Given the description of an element on the screen output the (x, y) to click on. 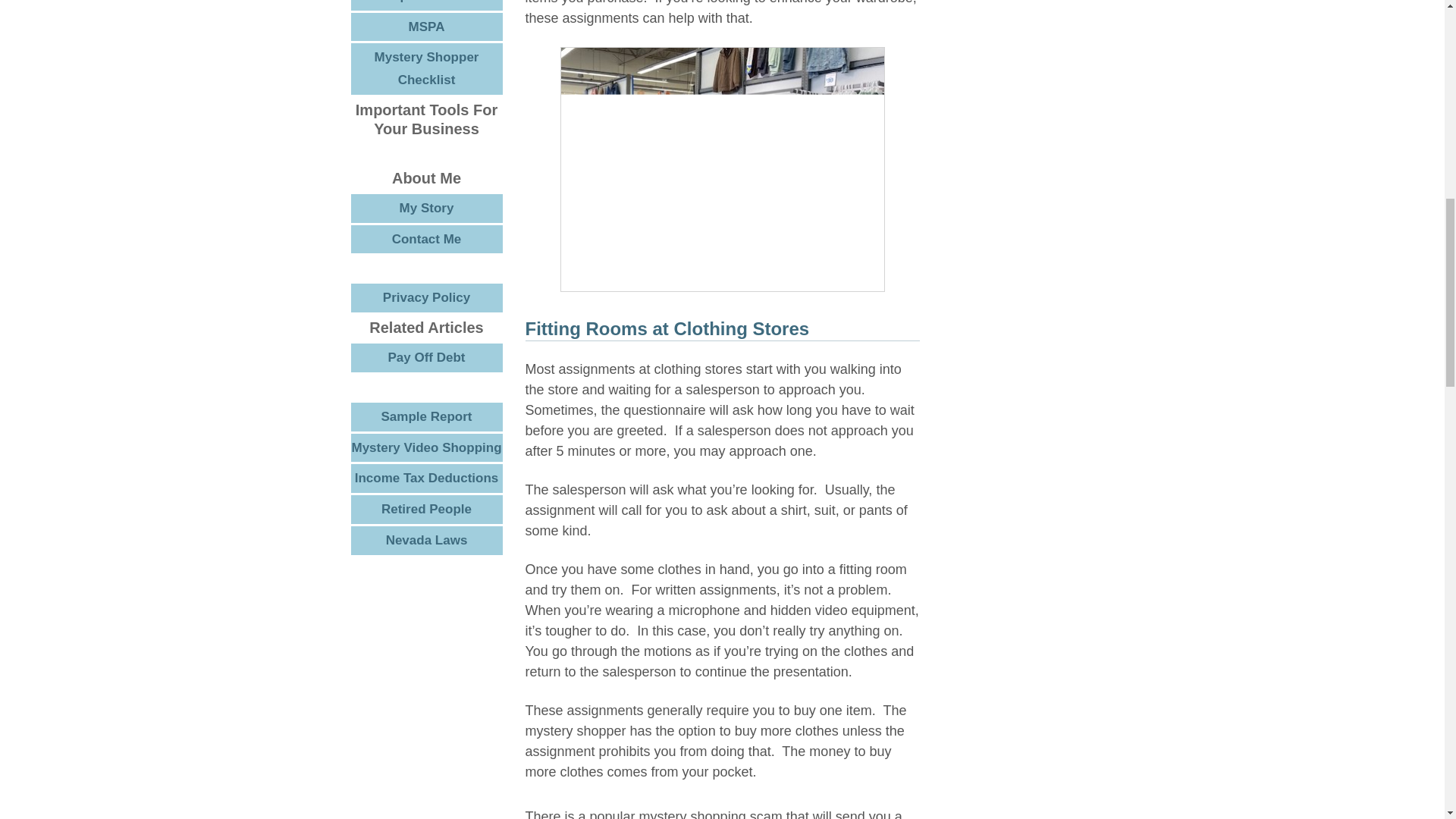
Privacy Policy (426, 297)
Pay Off Debt (426, 357)
My Story (426, 208)
Sample Report (426, 416)
Contact Me (426, 238)
Mystery Shopper Checklist (426, 69)
Mystery Video Shopping (426, 448)
Clothing Stores (721, 168)
Nevada Laws (426, 540)
MSPA (426, 26)
Income Tax Deductions (426, 478)
Retired People (426, 509)
Popular Scam (426, 5)
